Given the description of an element on the screen output the (x, y) to click on. 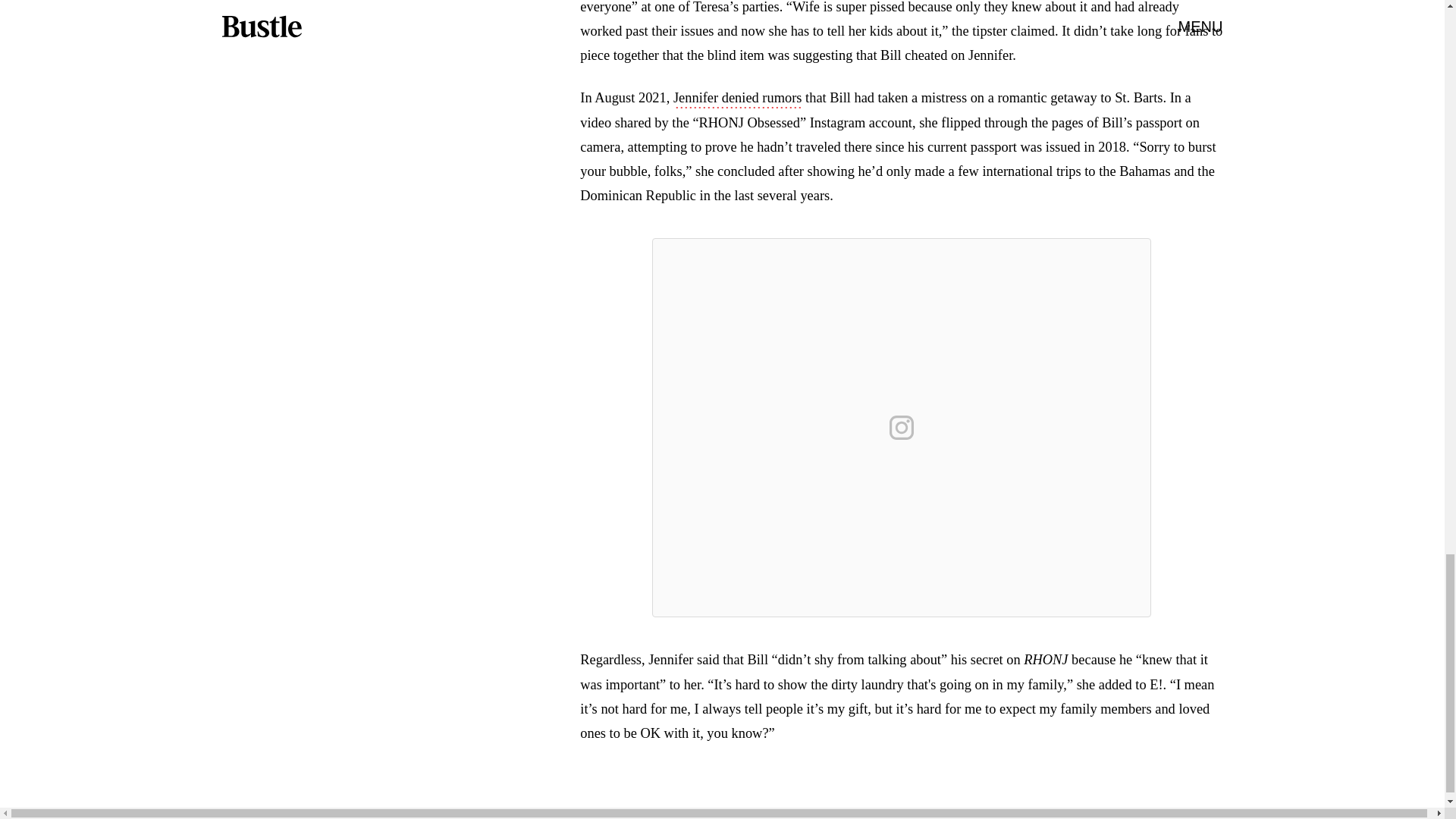
Jennifer denied rumors (737, 99)
View on Instagram (901, 427)
